Given the description of an element on the screen output the (x, y) to click on. 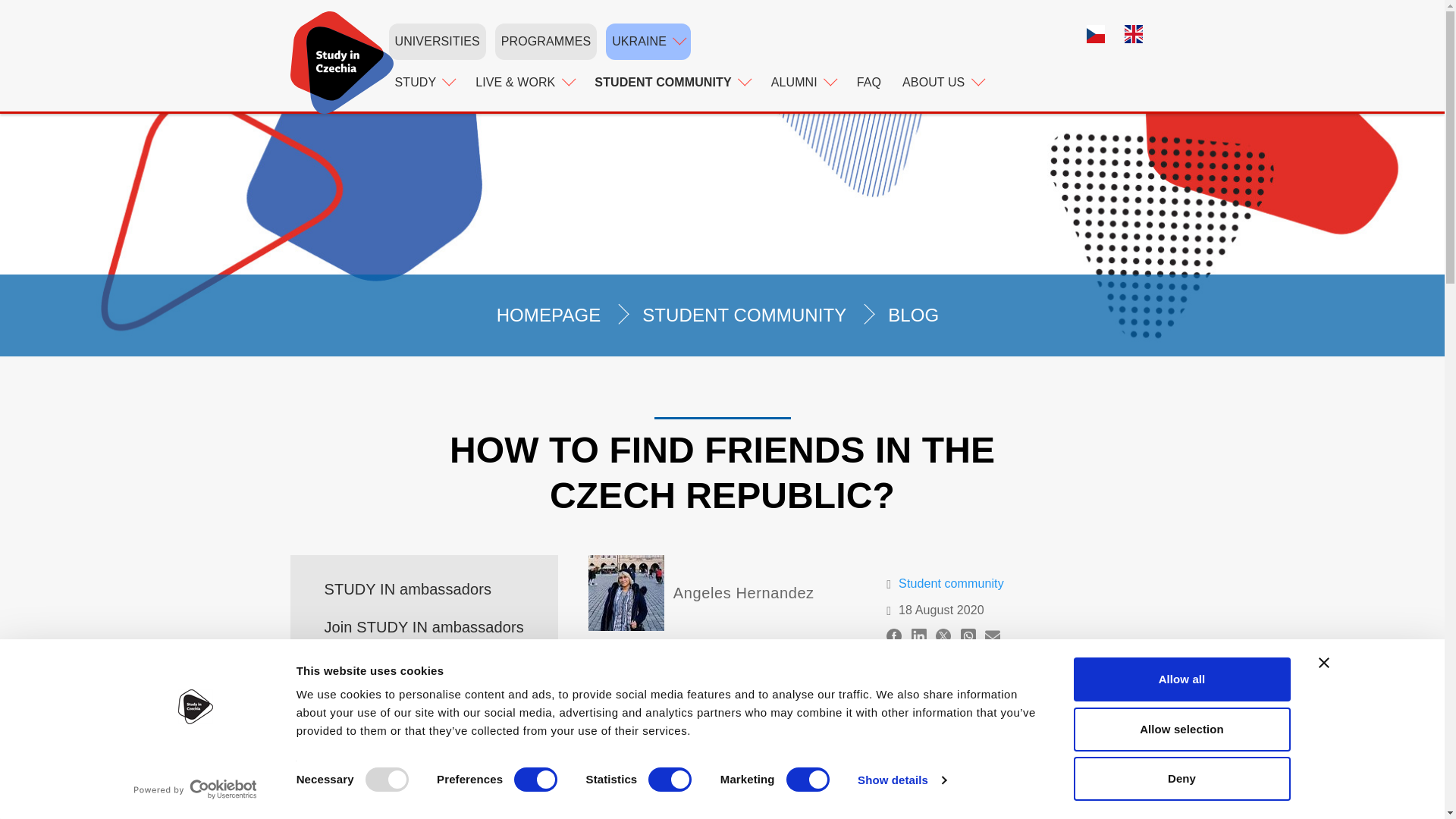
Study programmes in the Czech Republic (545, 41)
Show details (900, 780)
Universities in the Czech Republic (436, 41)
Homepage (341, 62)
